Given the description of an element on the screen output the (x, y) to click on. 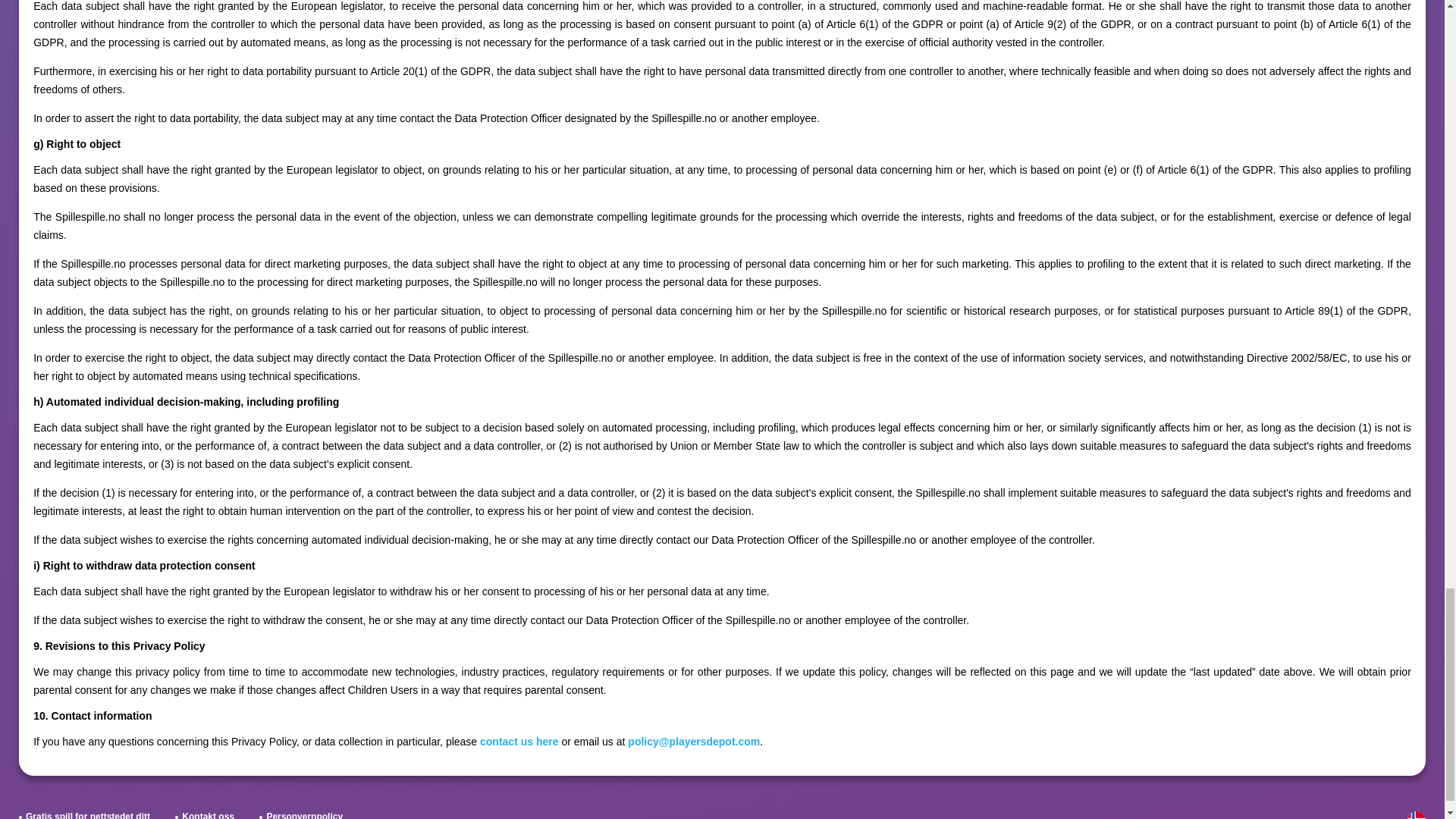
contact us here (518, 741)
